Given the description of an element on the screen output the (x, y) to click on. 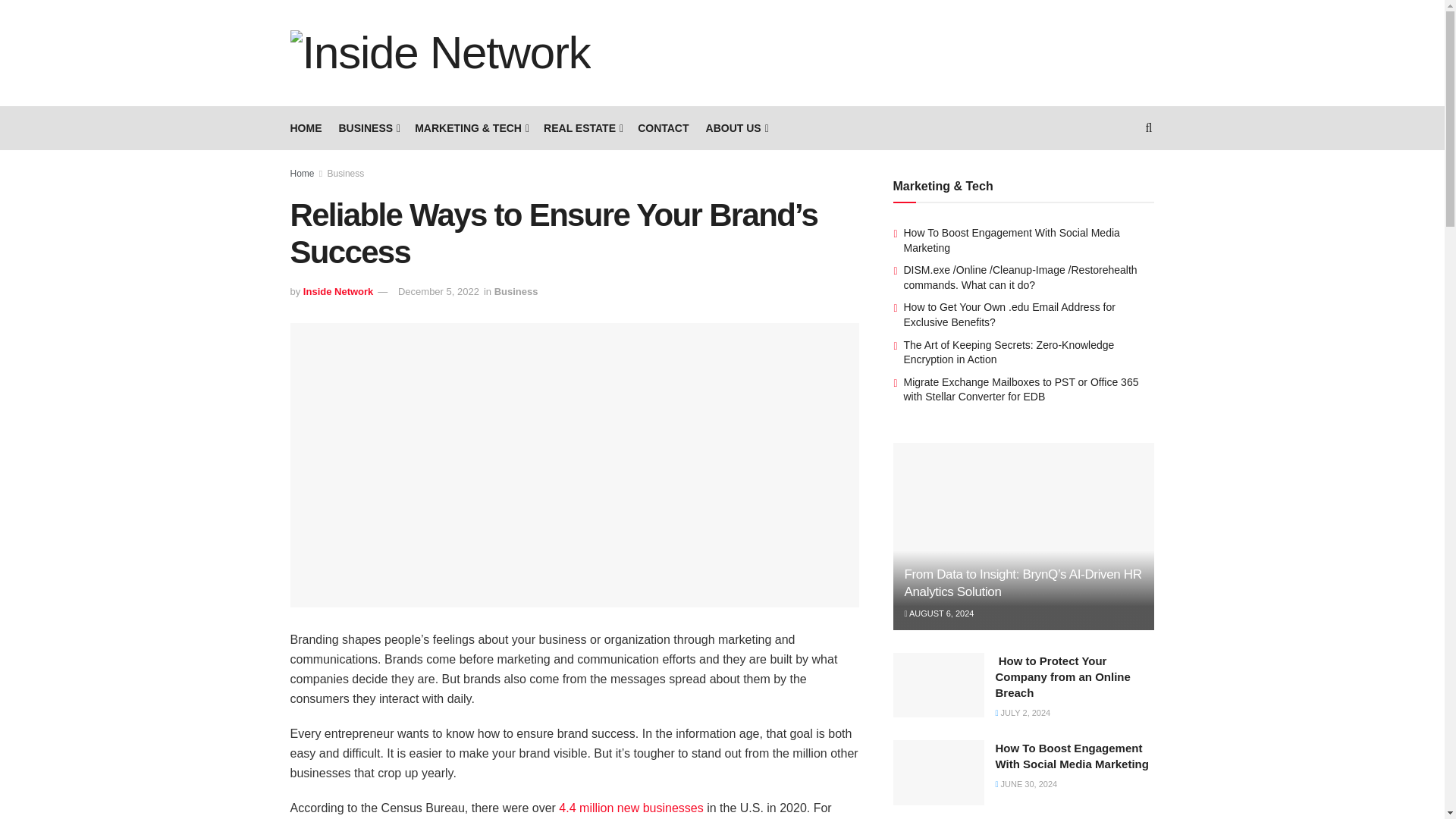
CONTACT (662, 127)
Business (516, 291)
Home (301, 173)
REAL ESTATE (582, 127)
Inside Network (337, 291)
HOME (305, 127)
BUSINESS (367, 127)
4.4 million new businesses (631, 807)
December 5, 2022 (438, 291)
ABOUT US (736, 127)
